Given the description of an element on the screen output the (x, y) to click on. 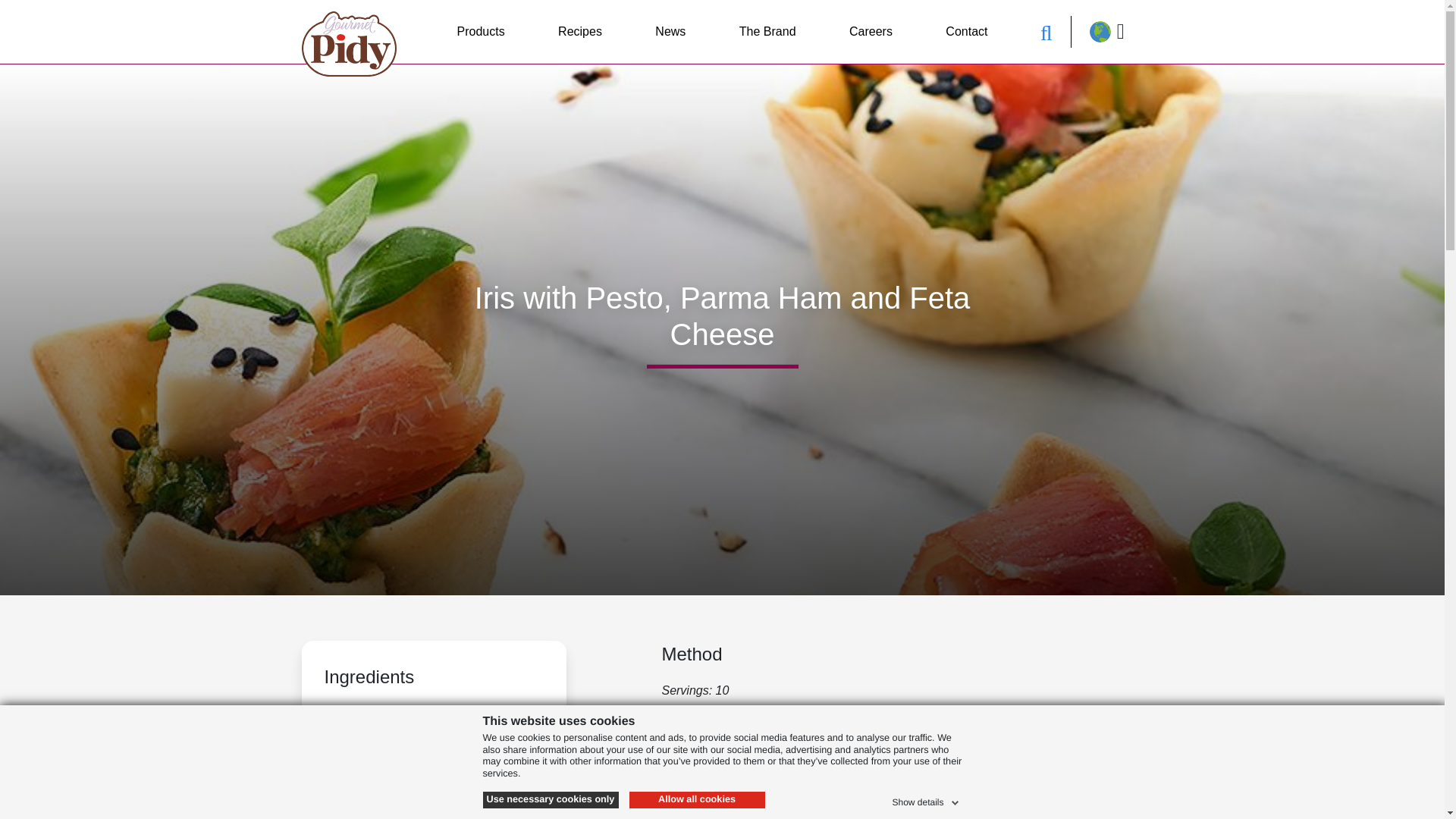
Use necessary cookies only (549, 799)
Allow all cookies (696, 799)
Show details (925, 799)
